Given the description of an element on the screen output the (x, y) to click on. 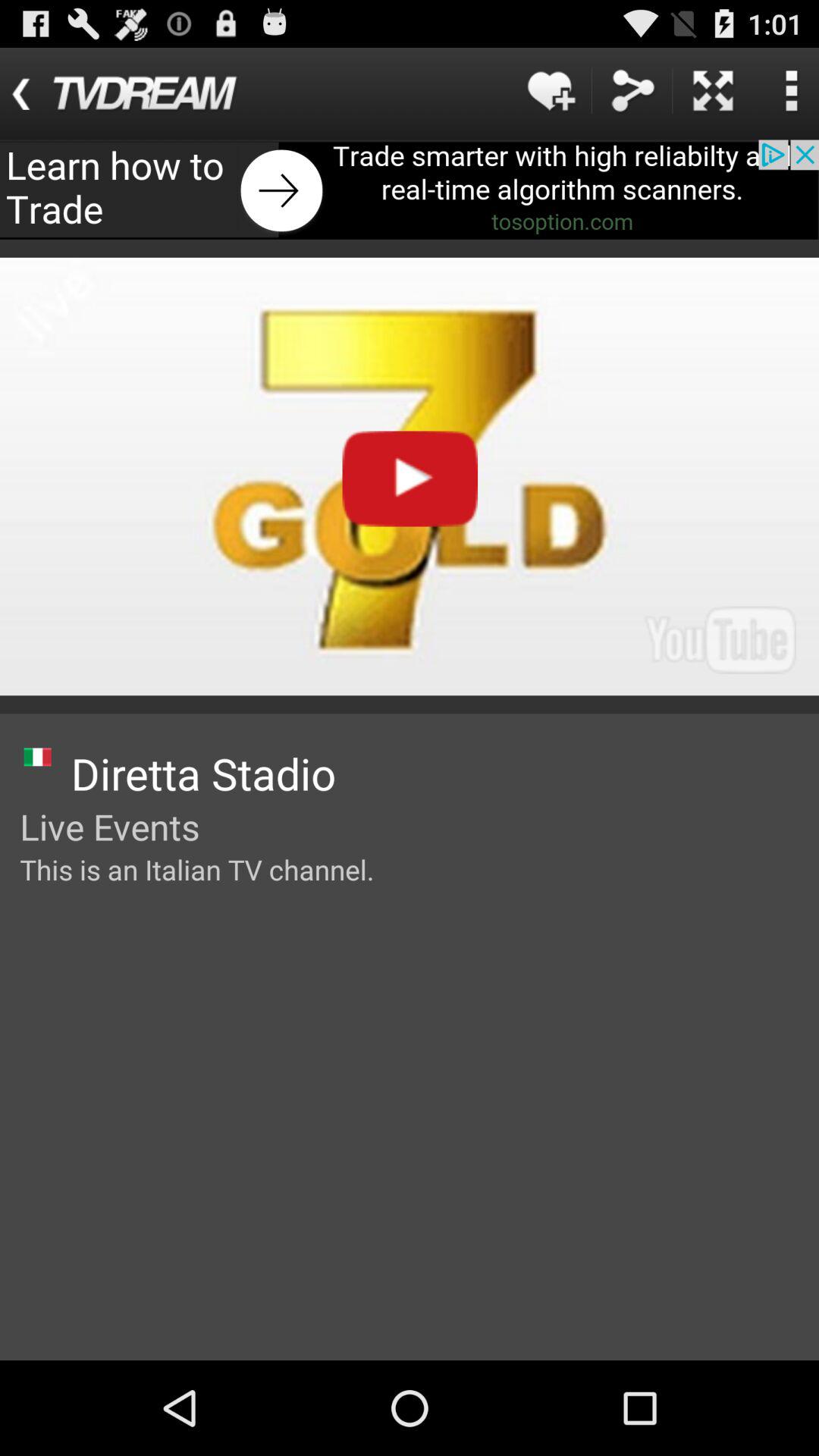
share option (632, 90)
